Given the description of an element on the screen output the (x, y) to click on. 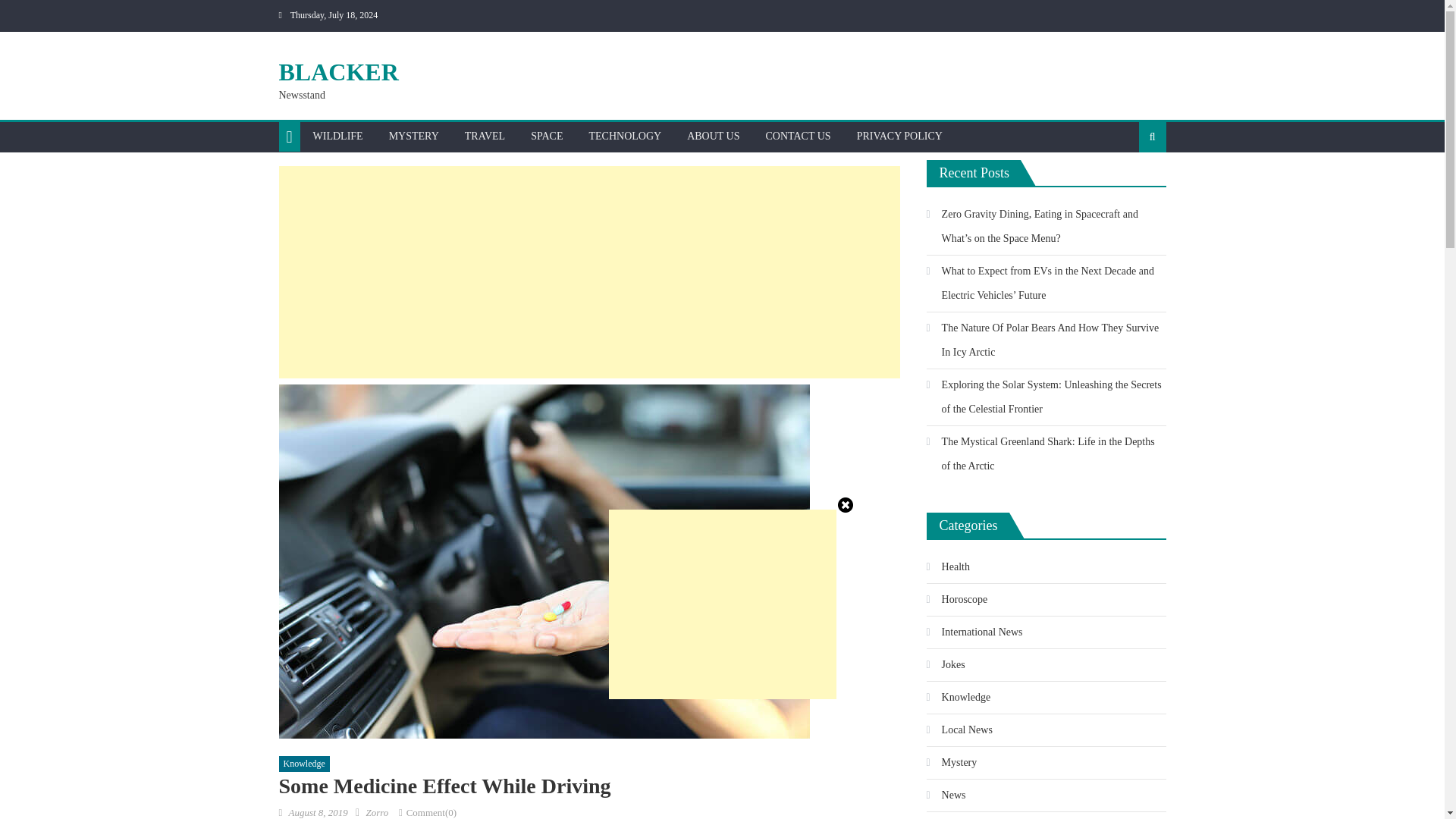
TRAVEL (484, 136)
TECHNOLOGY (624, 136)
Advertisement (721, 604)
Search (1128, 185)
Knowledge (304, 764)
BLACKER (338, 71)
WILDLIFE (337, 136)
CONTACT US (798, 136)
SPACE (546, 136)
Zorro (376, 812)
Advertisement (589, 272)
MYSTERY (413, 136)
August 8, 2019 (317, 812)
ABOUT US (713, 136)
PRIVACY POLICY (899, 136)
